Given the description of an element on the screen output the (x, y) to click on. 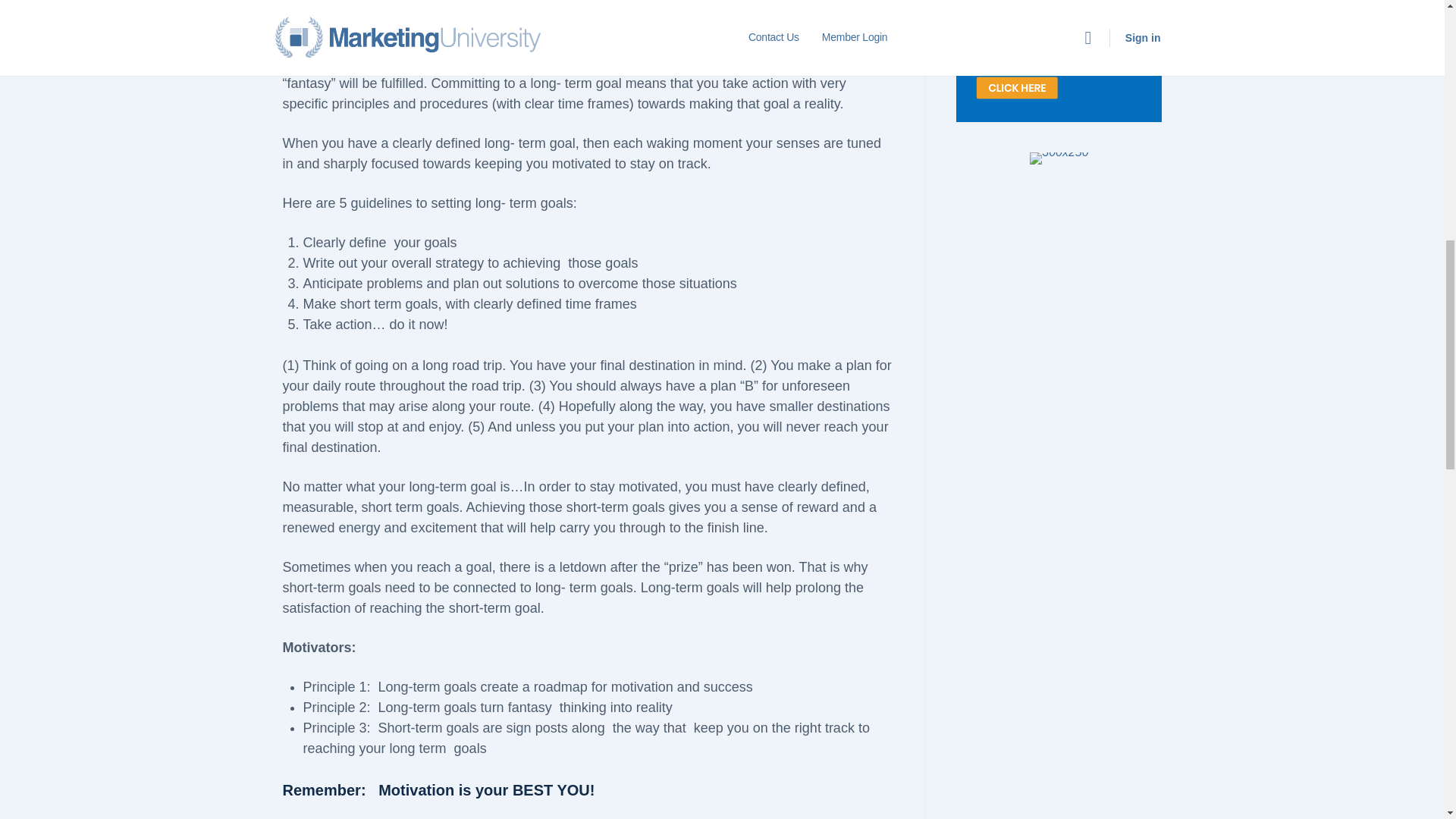
300x250 (1058, 158)
Story (1058, 61)
